Given the description of an element on the screen output the (x, y) to click on. 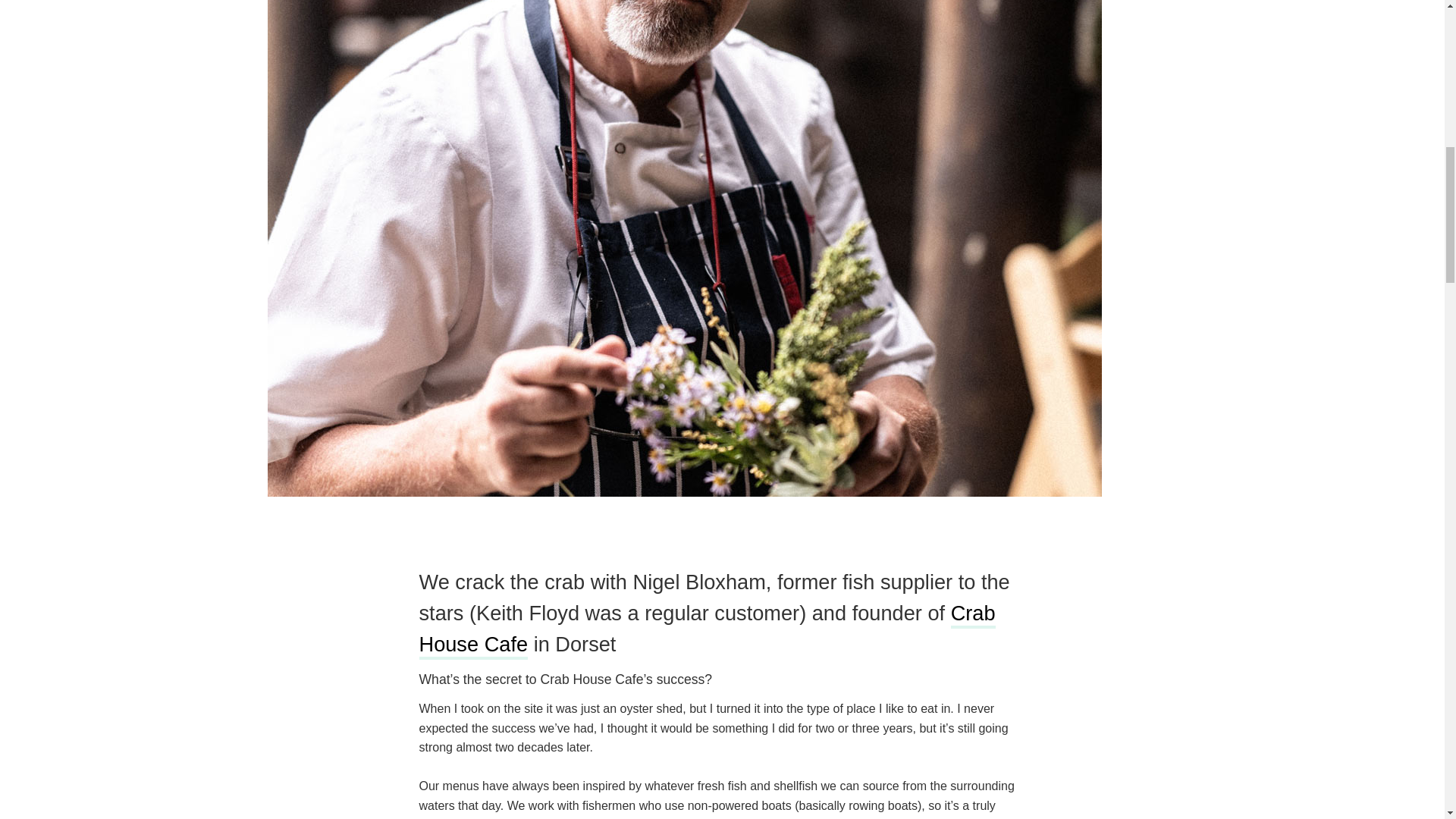
Crab House Cafe (706, 629)
